Given the description of an element on the screen output the (x, y) to click on. 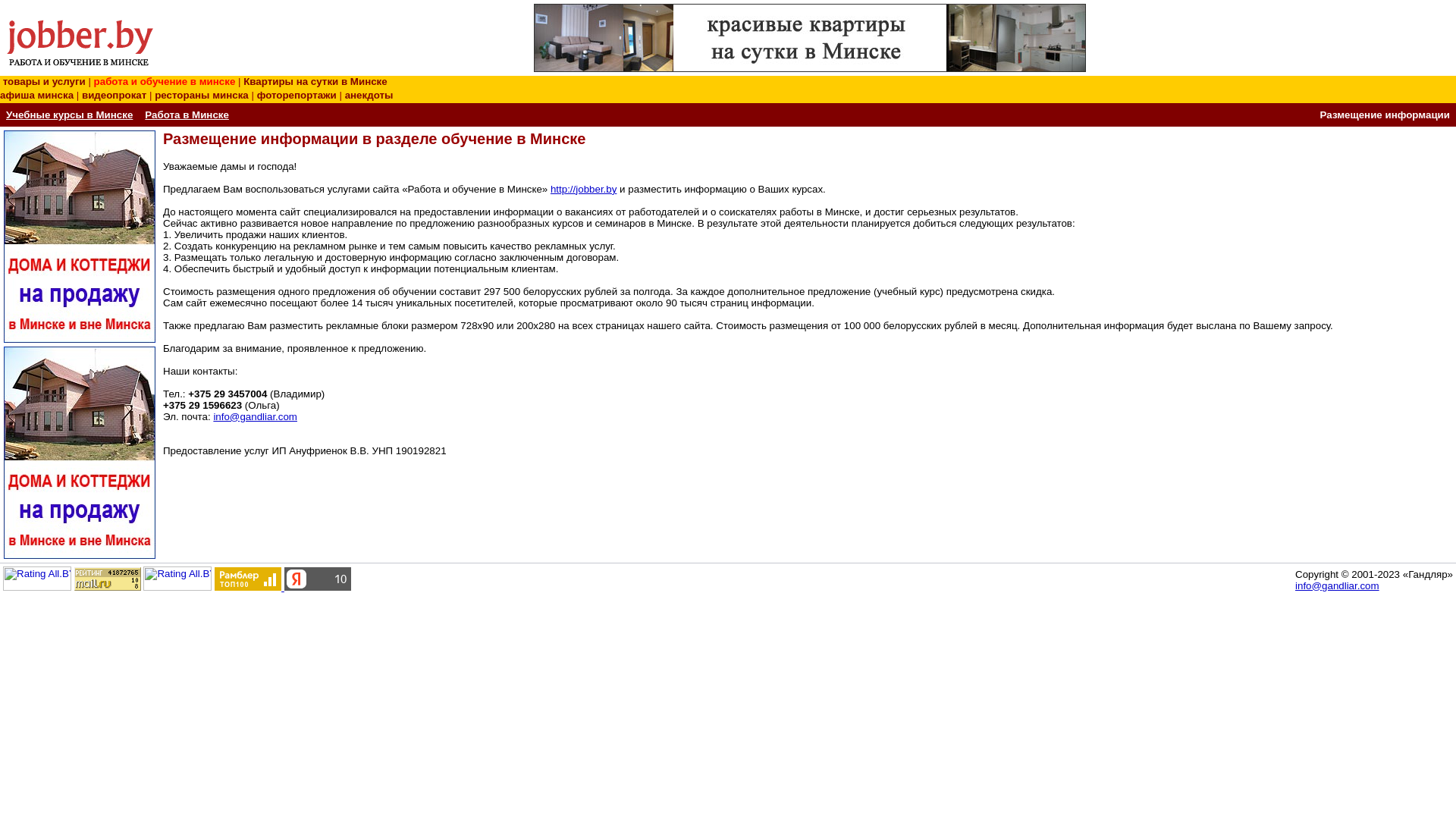
http://jobber.by Element type: text (583, 188)
Rambler's Top100 Element type: hover (247, 578)
info@gandliar.com Element type: text (255, 416)
info@gandliar.com Element type: text (1337, 584)
